Given the description of an element on the screen output the (x, y) to click on. 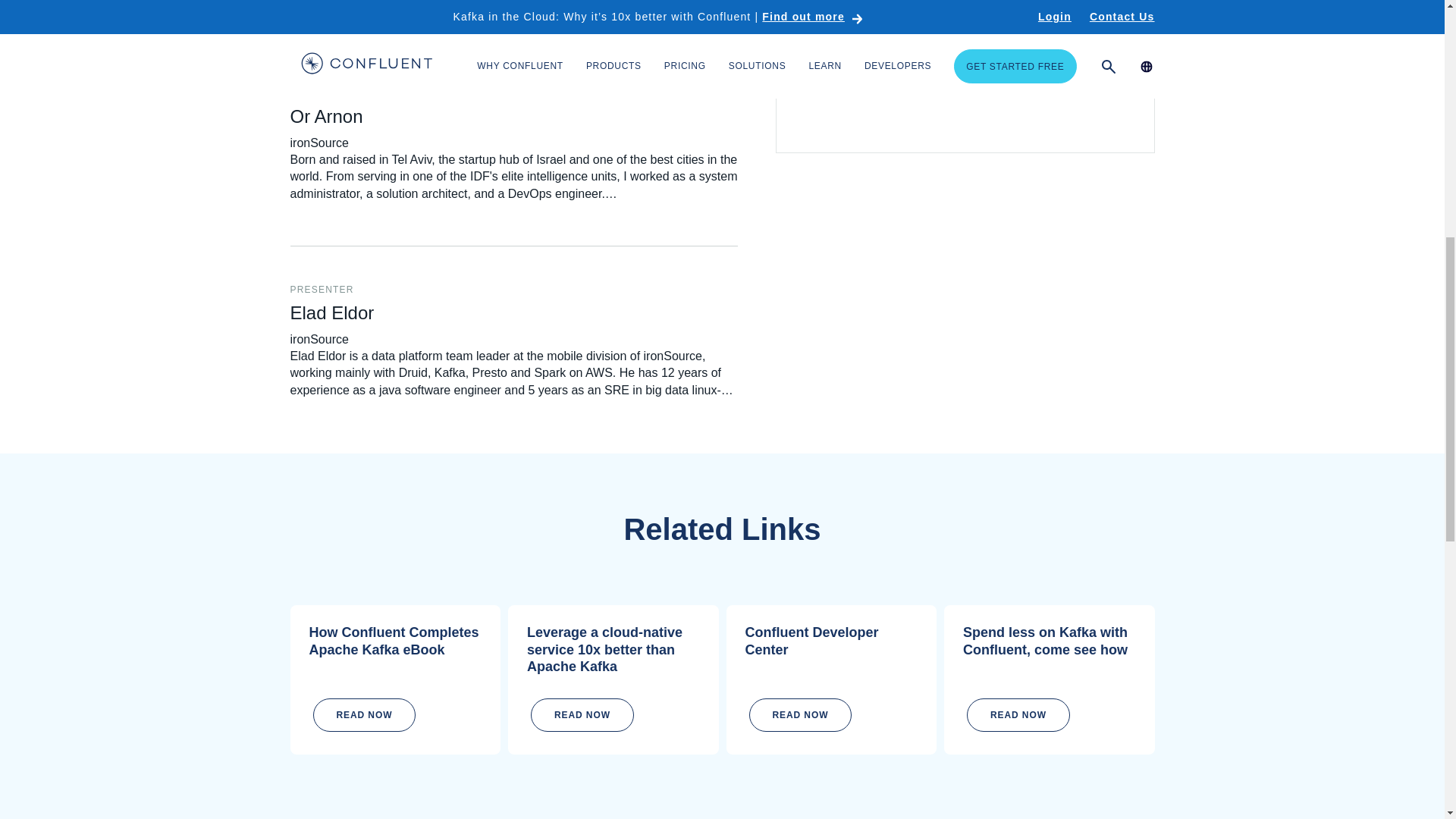
Presentation slide deck (964, 76)
